Given the description of an element on the screen output the (x, y) to click on. 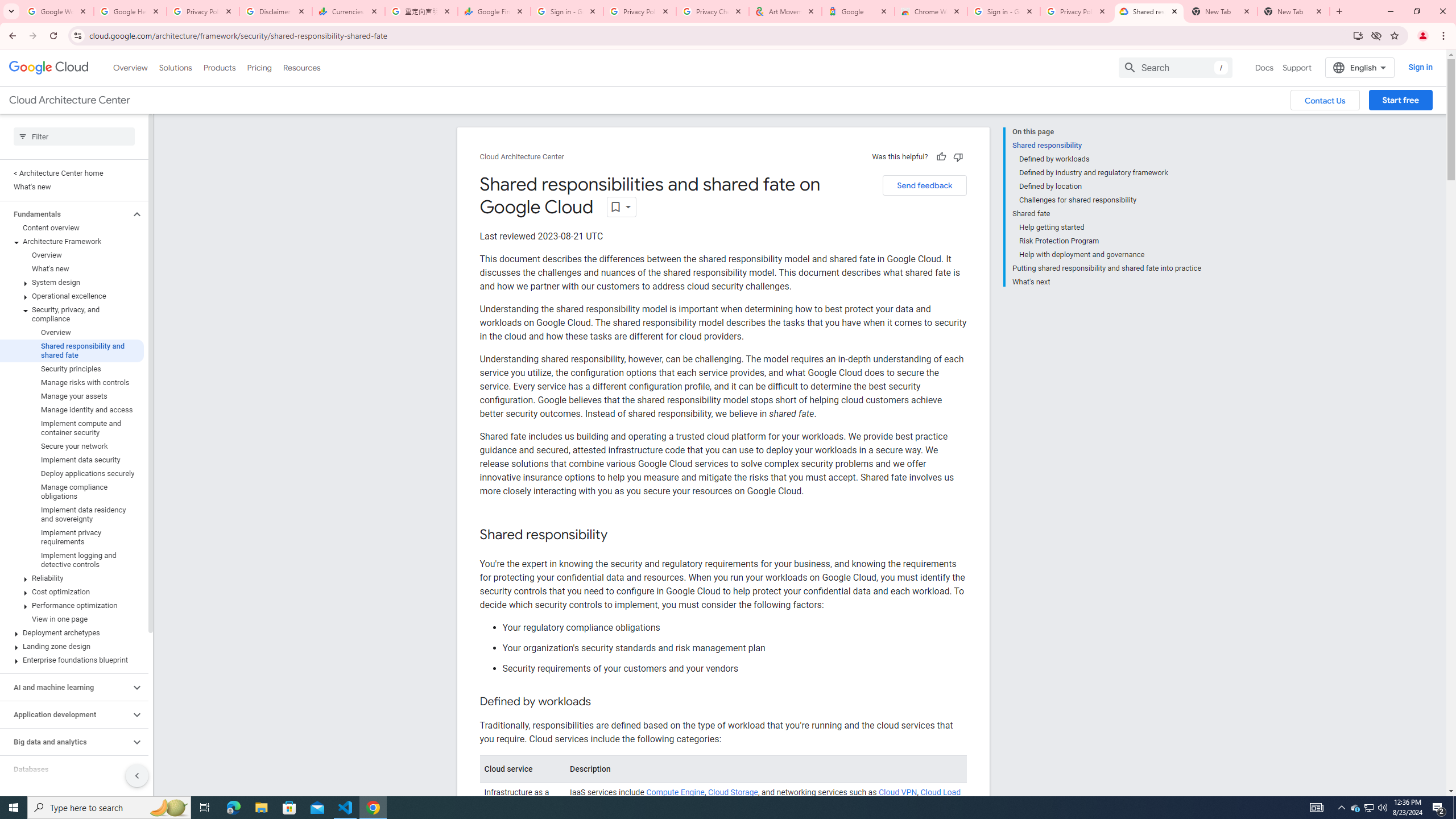
Cost optimization (72, 591)
